Given the description of an element on the screen output the (x, y) to click on. 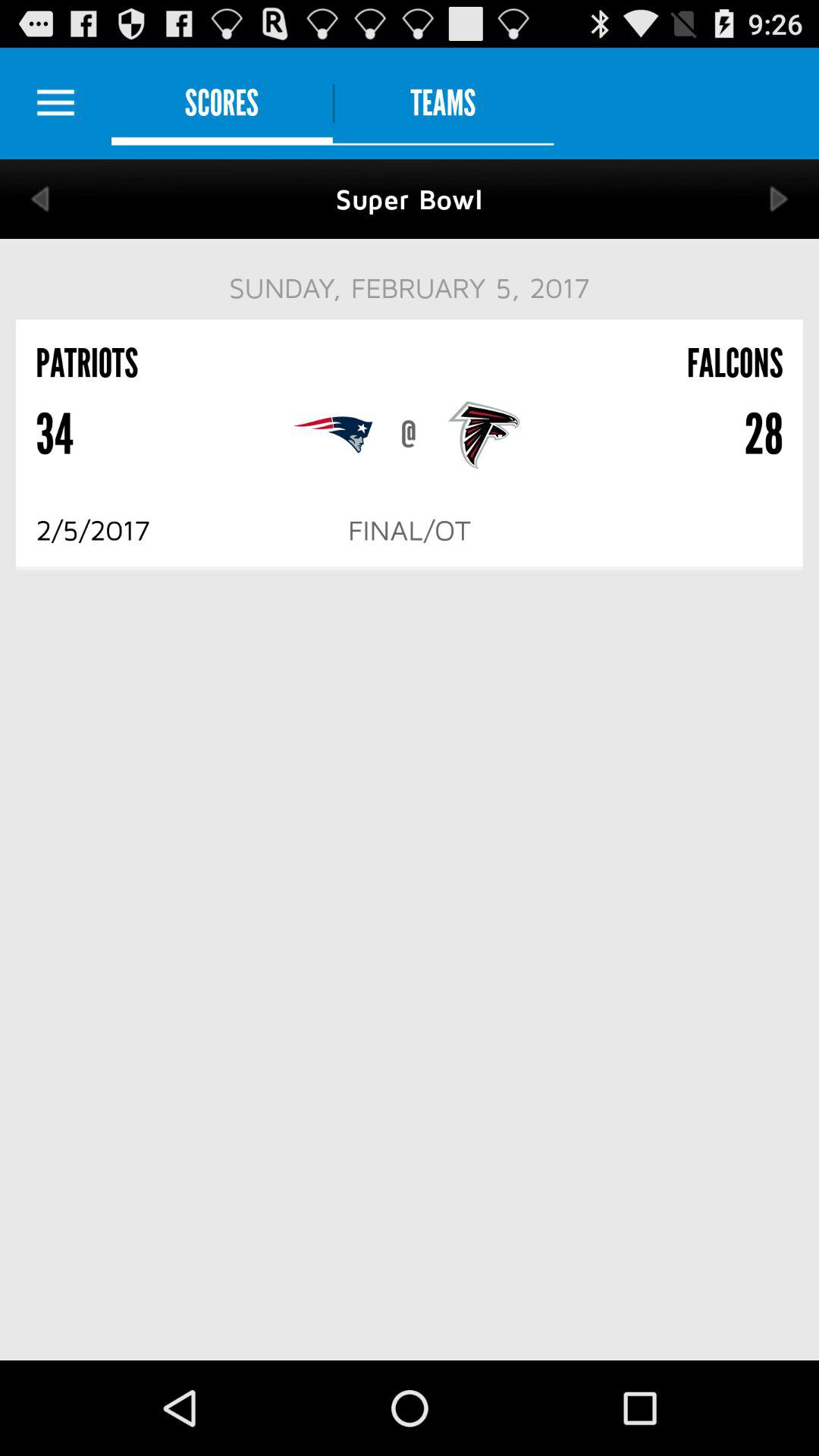
go back one page (39, 198)
